Given the description of an element on the screen output the (x, y) to click on. 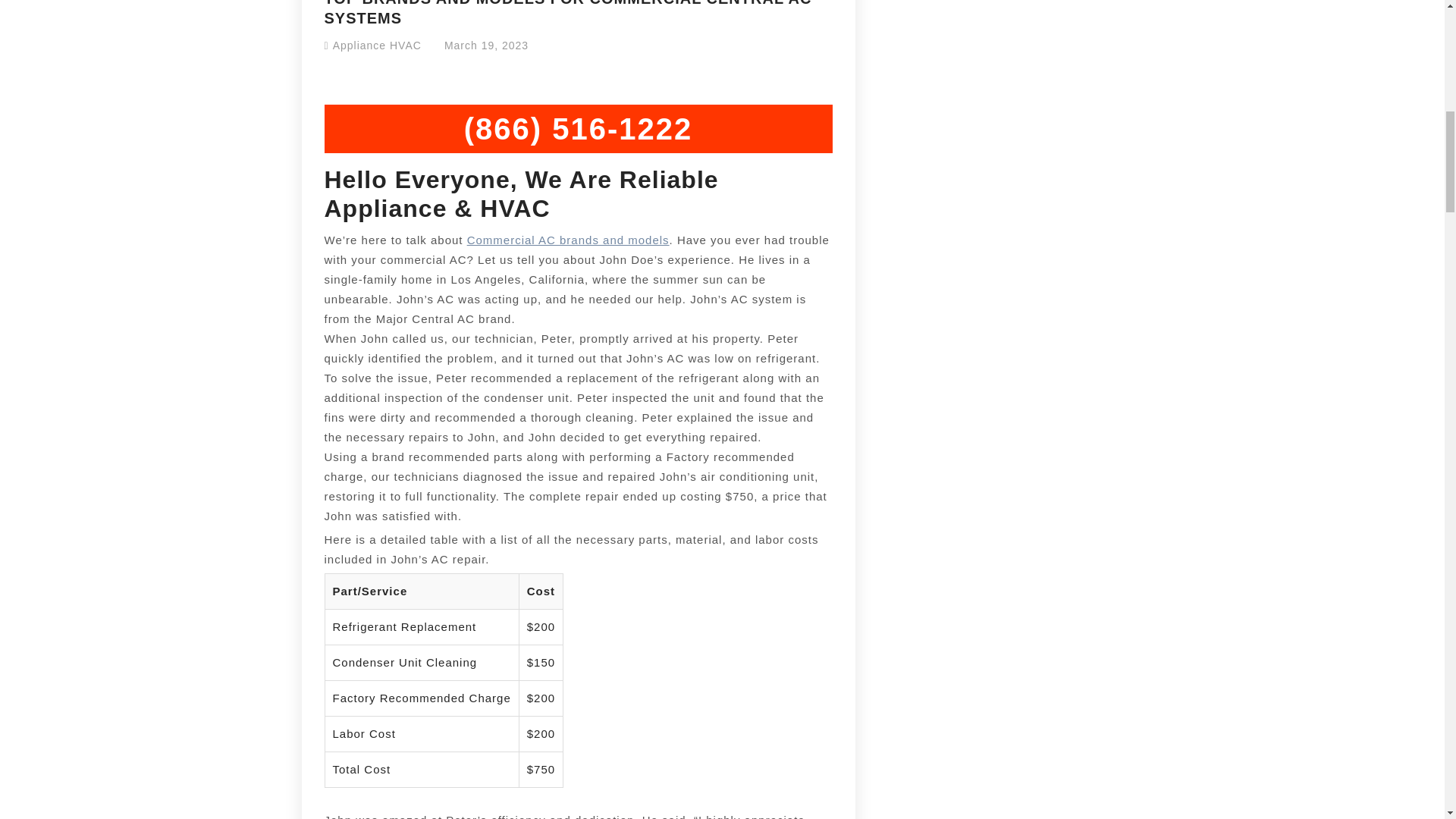
Top brands and models for commercial central AC systems (568, 239)
Commercial AC brands and models (568, 239)
March 19, 2023 (486, 45)
Appliance HVAC (377, 45)
